Given the description of an element on the screen output the (x, y) to click on. 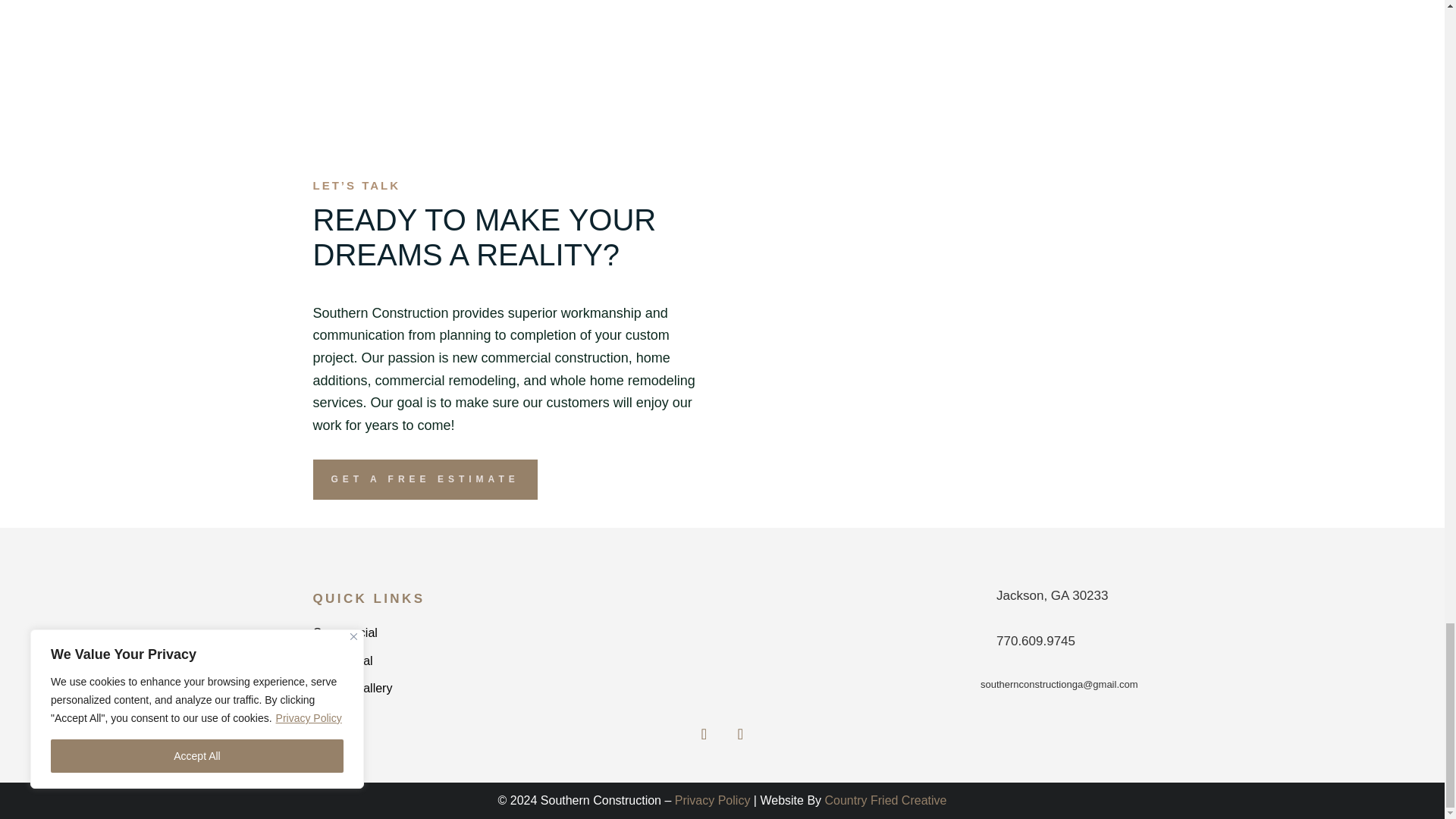
Project Gallery (352, 687)
GET A FREE ESTIMATE (425, 478)
Commercial (345, 632)
Residential (342, 660)
